Given the description of an element on the screen output the (x, y) to click on. 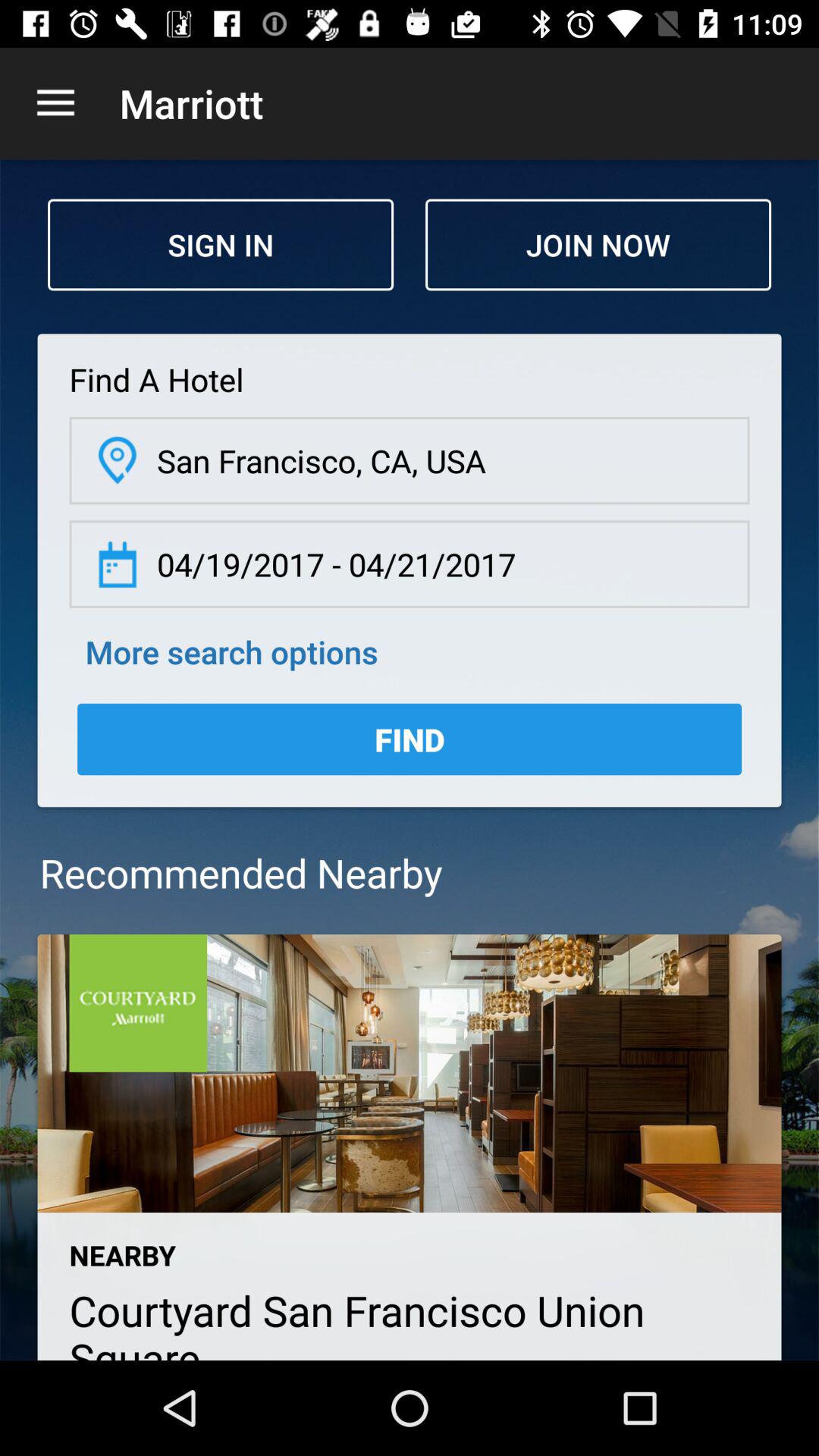
select item next to join now (220, 244)
